Given the description of an element on the screen output the (x, y) to click on. 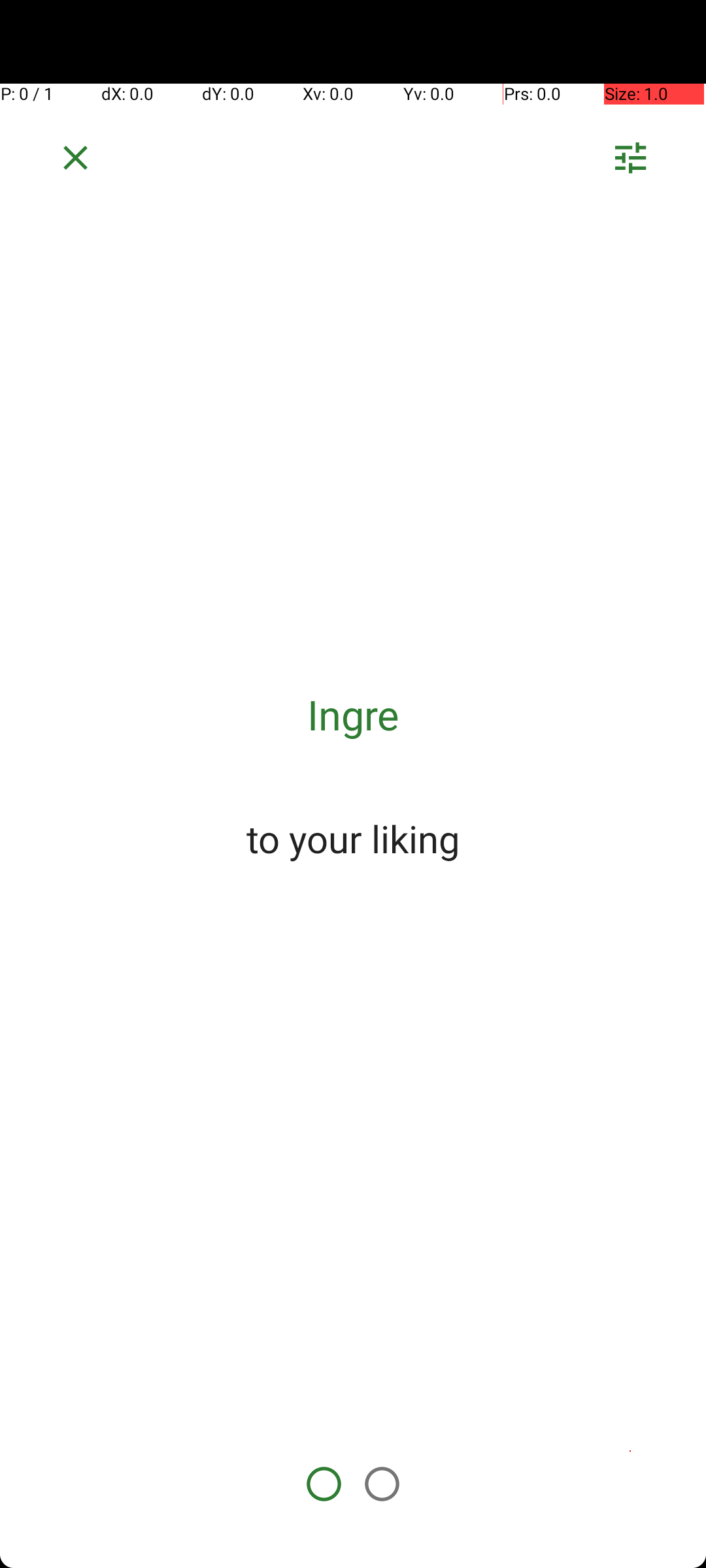
to your liking Element type: android.widget.TextView (352, 838)
